Given the description of an element on the screen output the (x, y) to click on. 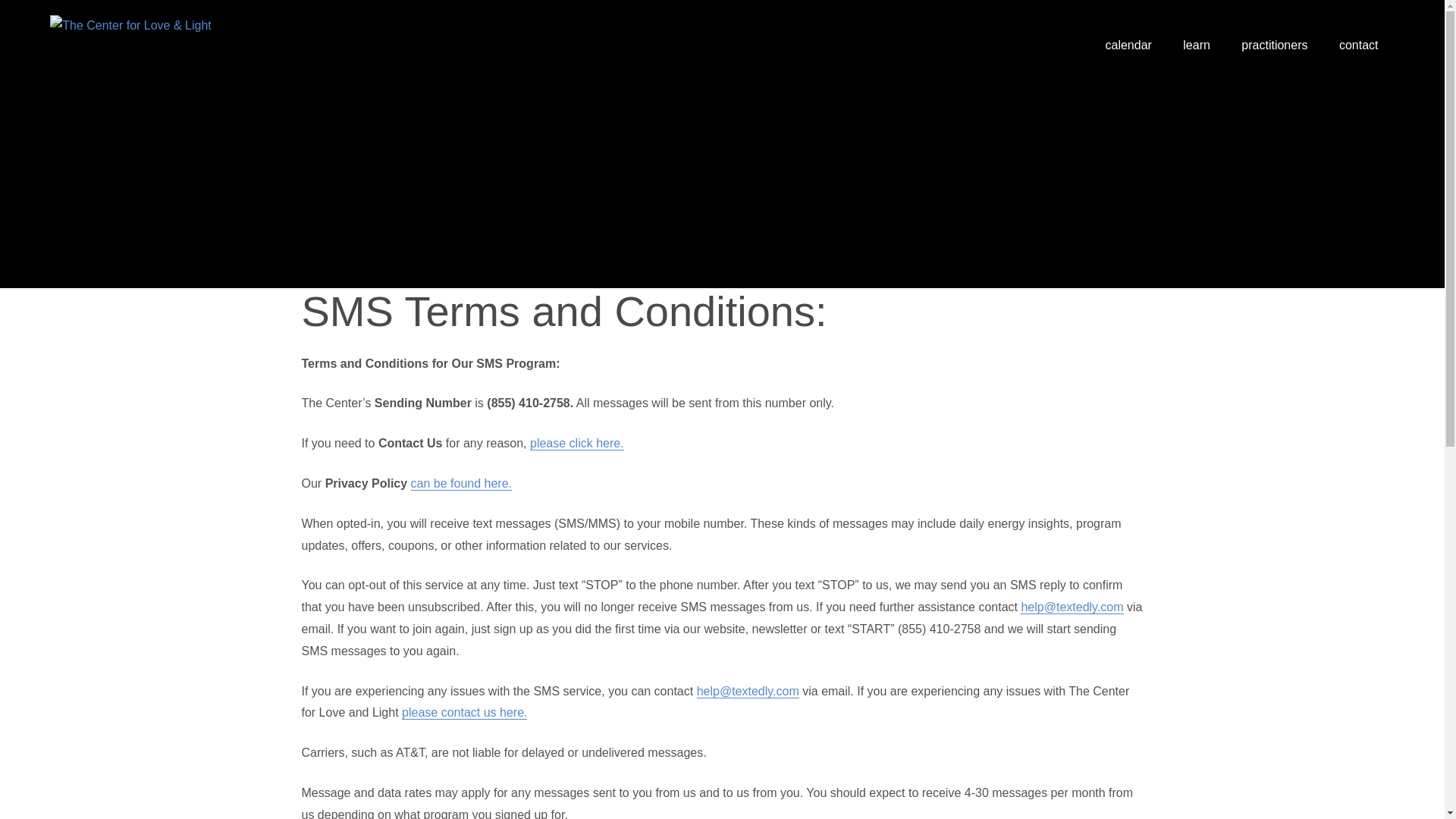
search (1409, 39)
can be found here. (461, 483)
learn  (1197, 45)
calendar  (1130, 45)
please contact us here. (464, 712)
please click here. (576, 443)
contact  (1359, 45)
practitioners  (1275, 45)
